Given the description of an element on the screen output the (x, y) to click on. 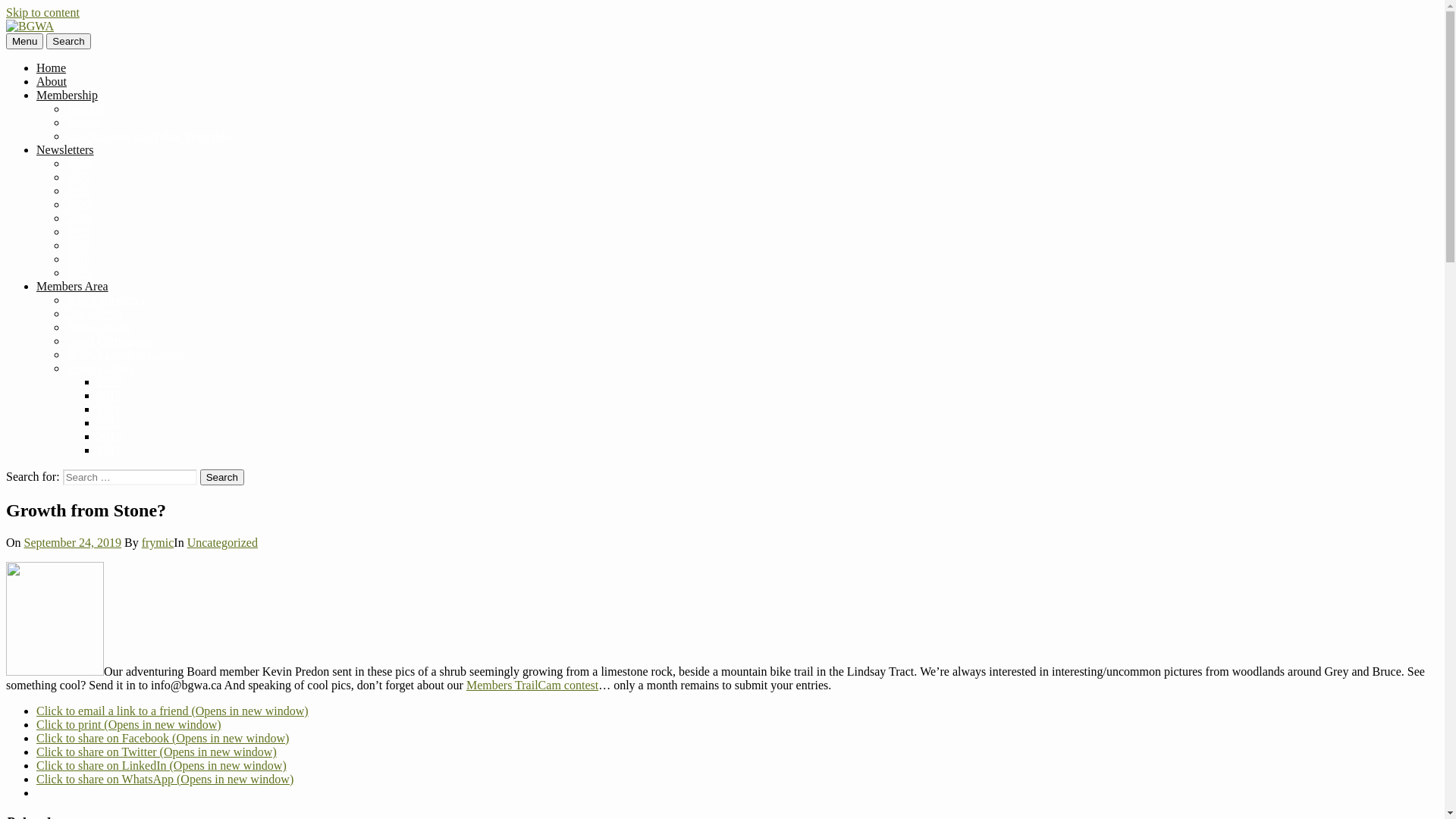
Search Element type: text (68, 41)
Documents Element type: text (94, 313)
2016 Element type: text (78, 258)
2018 Element type: text (78, 231)
Renew Element type: text (83, 122)
Click to email a link to a friend (Opens in new window) Element type: text (172, 710)
2017 Element type: text (109, 422)
Newsletters Element type: text (65, 149)
frymic Element type: text (157, 542)
2019 Element type: text (78, 217)
Search for: Element type: hover (129, 477)
Event Gallery Element type: text (100, 367)
2023 Element type: text (78, 162)
2015 Element type: text (78, 272)
2018 Element type: text (109, 408)
Local Companies Element type: text (108, 340)
Menu Element type: text (24, 41)
Skip to content Element type: text (42, 12)
2015 Element type: text (109, 449)
About Element type: text (51, 81)
Click to print (Opens in new window) Element type: text (128, 724)
Membership Element type: text (66, 94)
2022 Element type: text (78, 176)
Uncategorized Element type: text (222, 542)
Click to share on WhatsApp (Opens in new window) Element type: text (164, 778)
2016 Element type: text (109, 435)
2021 Element type: text (78, 190)
2020 Element type: text (78, 203)
September 24, 2019 Element type: text (72, 542)
Click to share on Facebook (Opens in new window) Element type: text (162, 737)
2020 Element type: text (109, 381)
Click to share on Twitter (Opens in new window) Element type: text (156, 751)
2017 Element type: text (78, 244)
Notice Board Element type: text (98, 326)
Click to share on LinkedIn (Opens in new window) Element type: text (161, 765)
Home Element type: text (50, 67)
Board Directory Element type: text (105, 299)
Check Status or Update Your Info Element type: text (148, 135)
Search Element type: text (222, 477)
2019 Element type: text (109, 395)
Join Us Element type: text (84, 108)
BGWA Lending Library Element type: text (125, 354)
Members TrailCam contest Element type: text (532, 684)
Bruce Grey Woodlands Association Element type: text (188, 62)
Members Area Element type: text (72, 285)
